Given the description of an element on the screen output the (x, y) to click on. 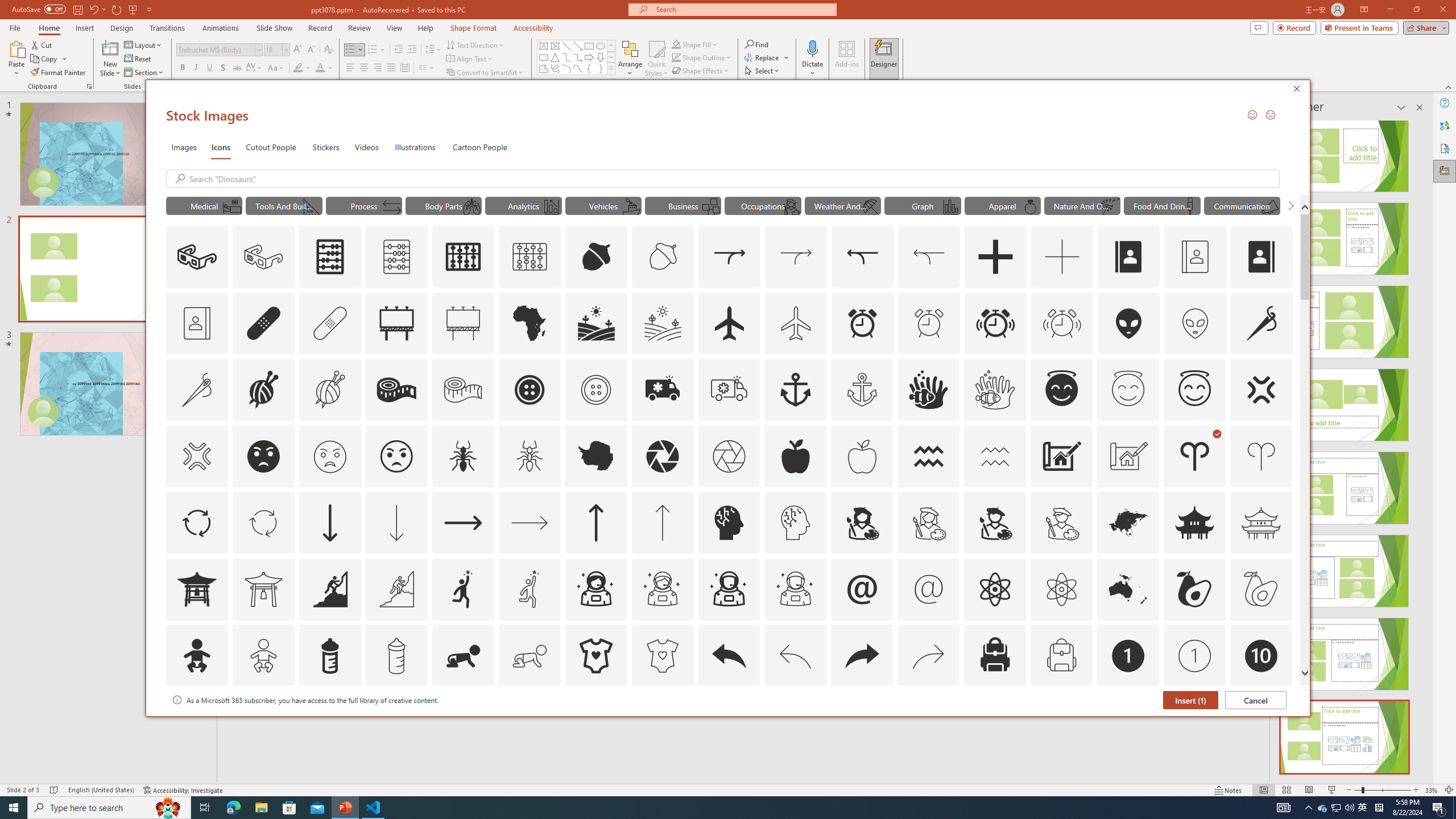
AutomationID: Icons_Back_RTL (861, 655)
AutomationID: Icons_Champagne_M (1190, 206)
AutomationID: Icons_AngelFace (1061, 389)
AutomationID: Icons_Badge3 (395, 721)
AutomationID: Icons_Badge6_M (861, 721)
AutomationID: Icons_BarChart_LTR_M (950, 206)
AutomationID: Icons_AngelFace_M (1128, 389)
